Given the description of an element on the screen output the (x, y) to click on. 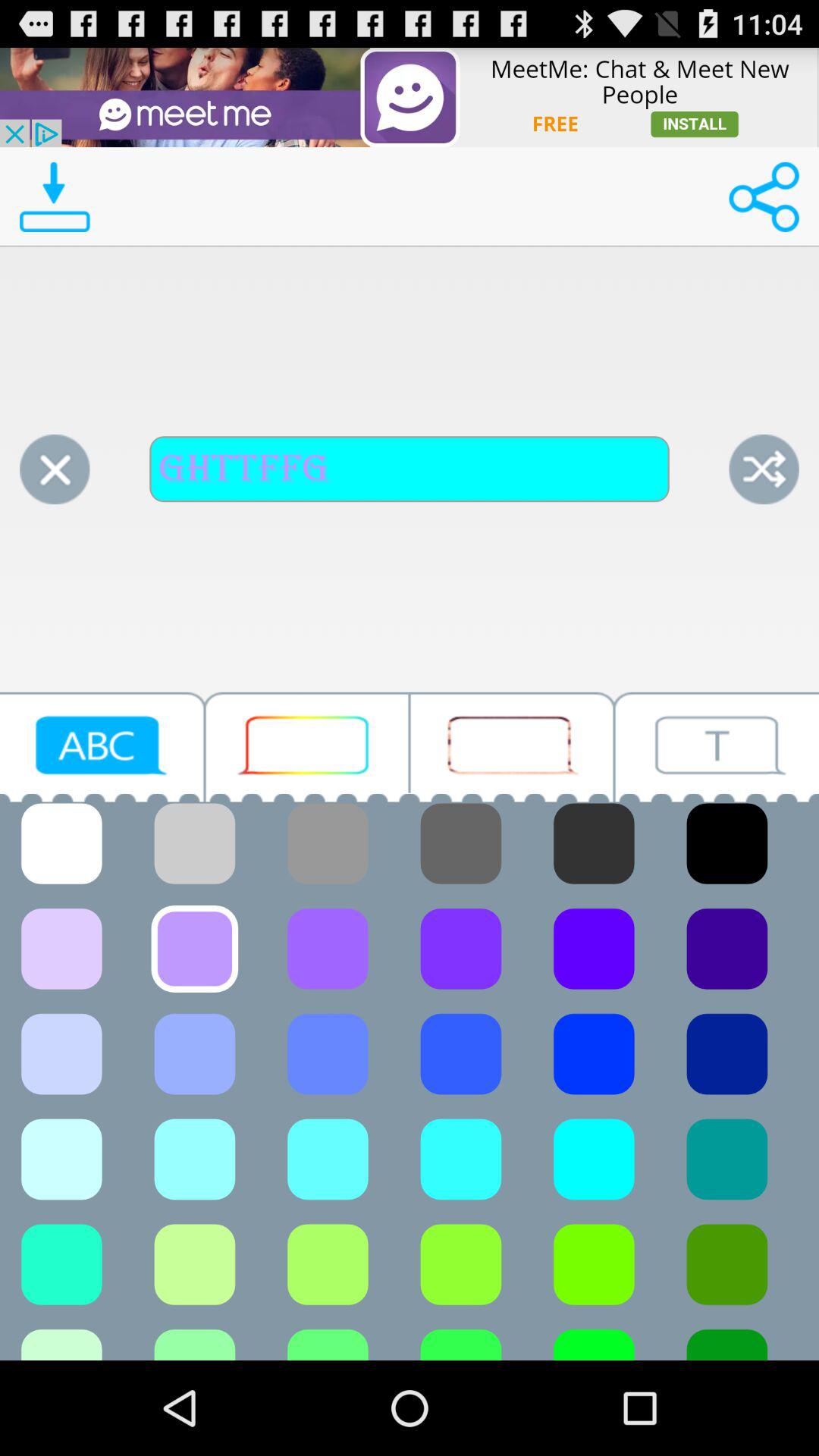
click on close option (54, 469)
